Given the description of an element on the screen output the (x, y) to click on. 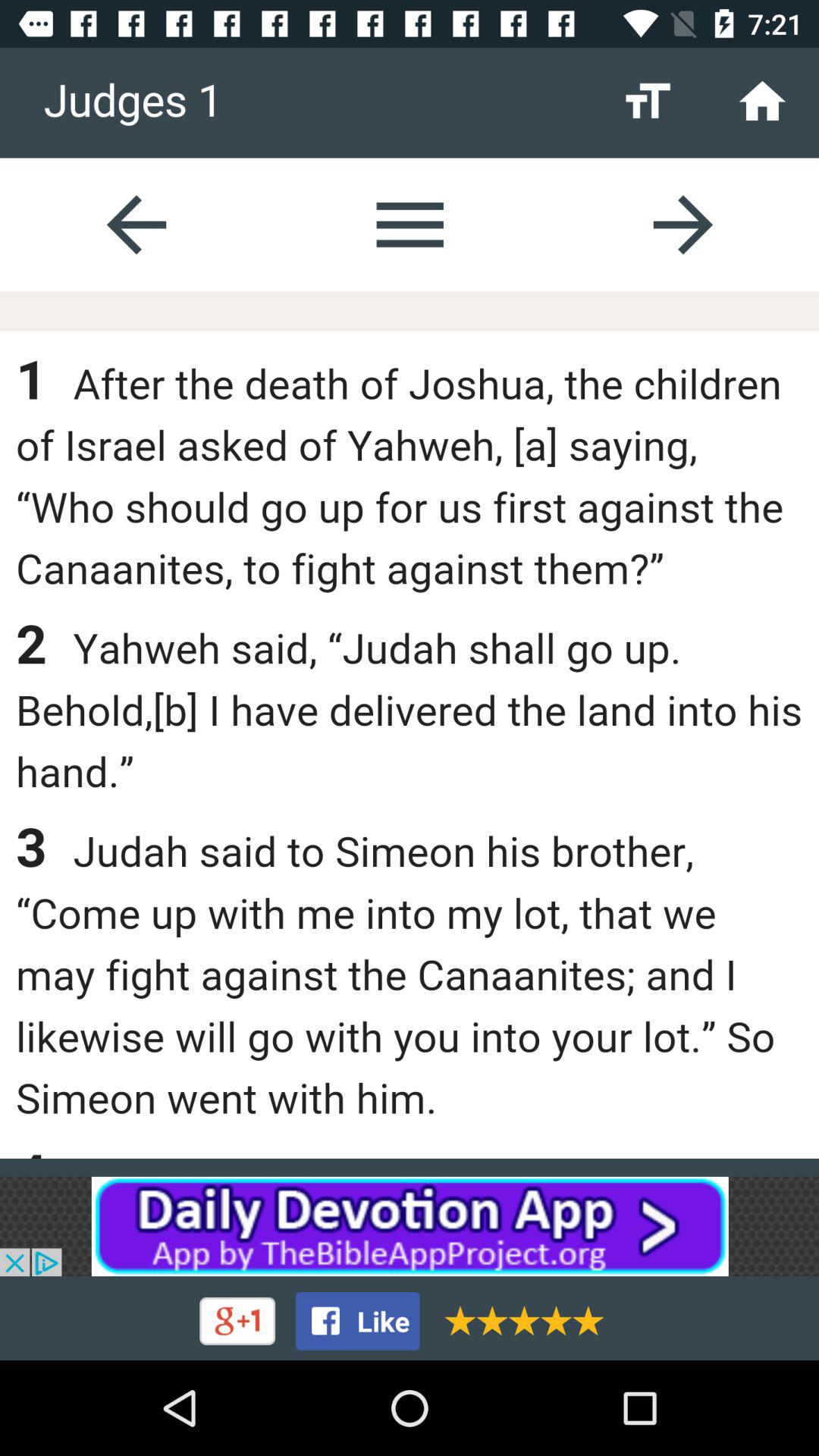
know about the advertisement (409, 1226)
